Given the description of an element on the screen output the (x, y) to click on. 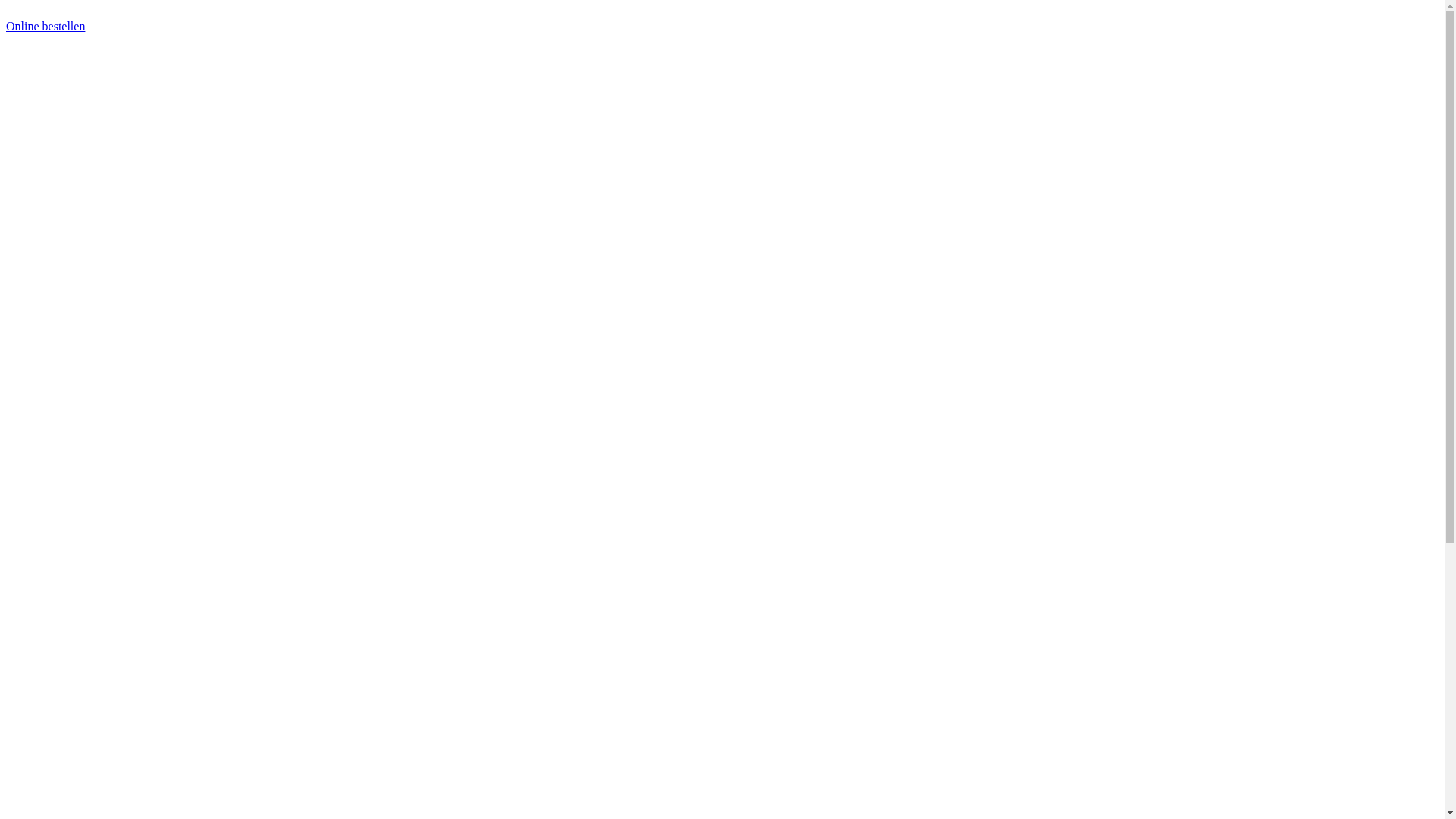
Online bestellen Element type: text (45, 25)
